Given the description of an element on the screen output the (x, y) to click on. 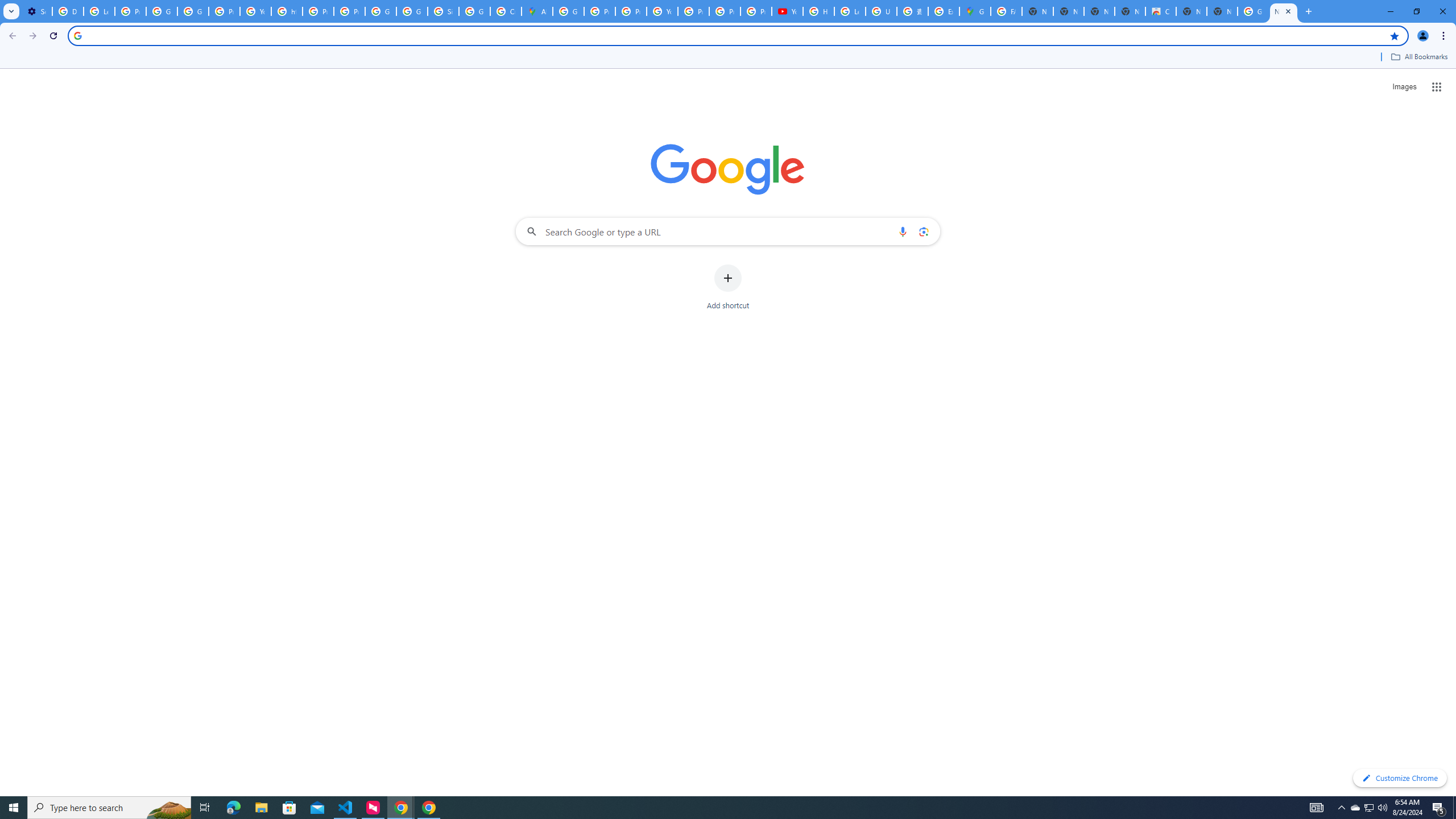
Privacy Checkup (724, 11)
New Tab (1283, 11)
YouTube (662, 11)
